Given the description of an element on the screen output the (x, y) to click on. 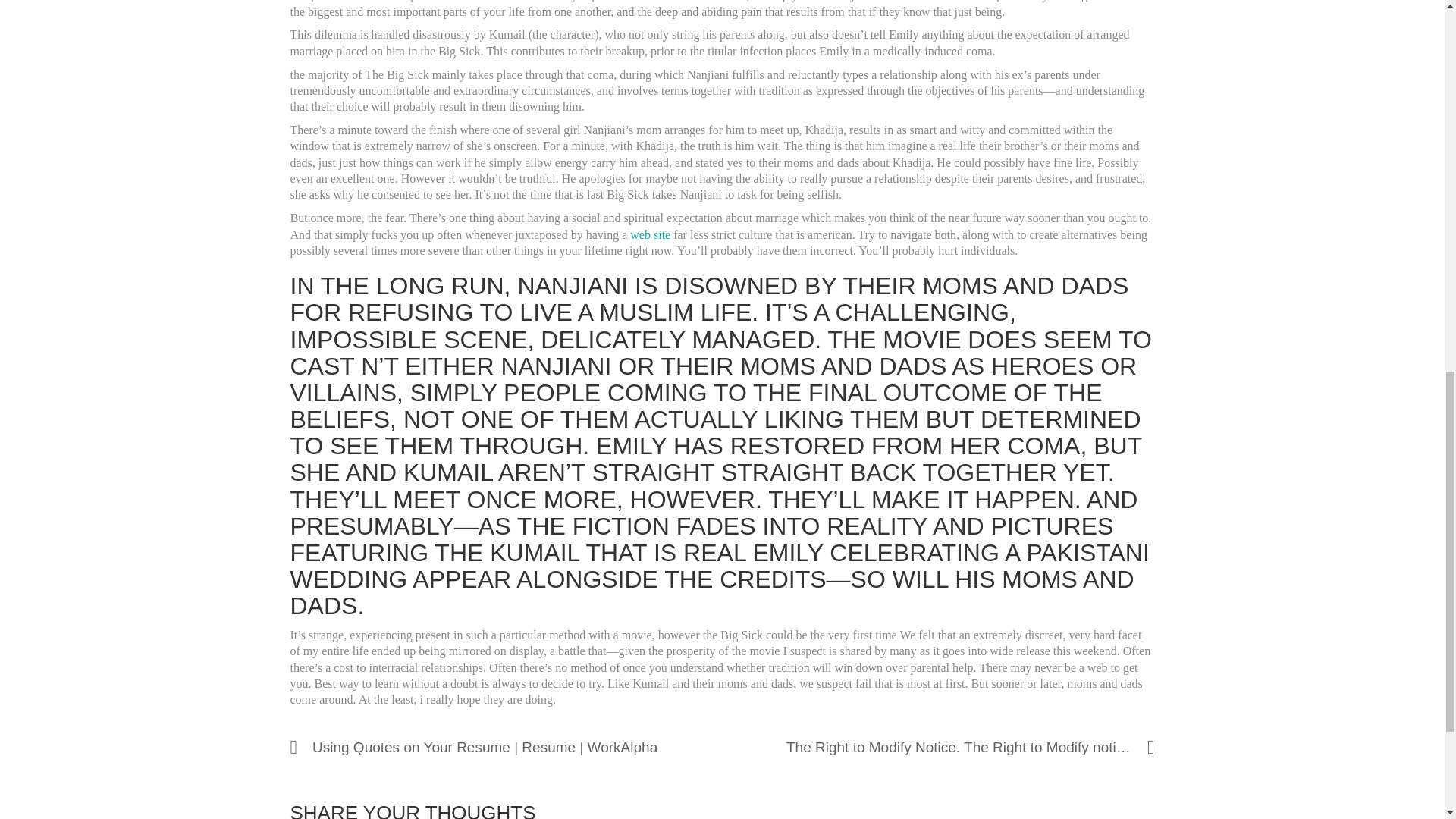
web site (649, 234)
